Given the description of an element on the screen output the (x, y) to click on. 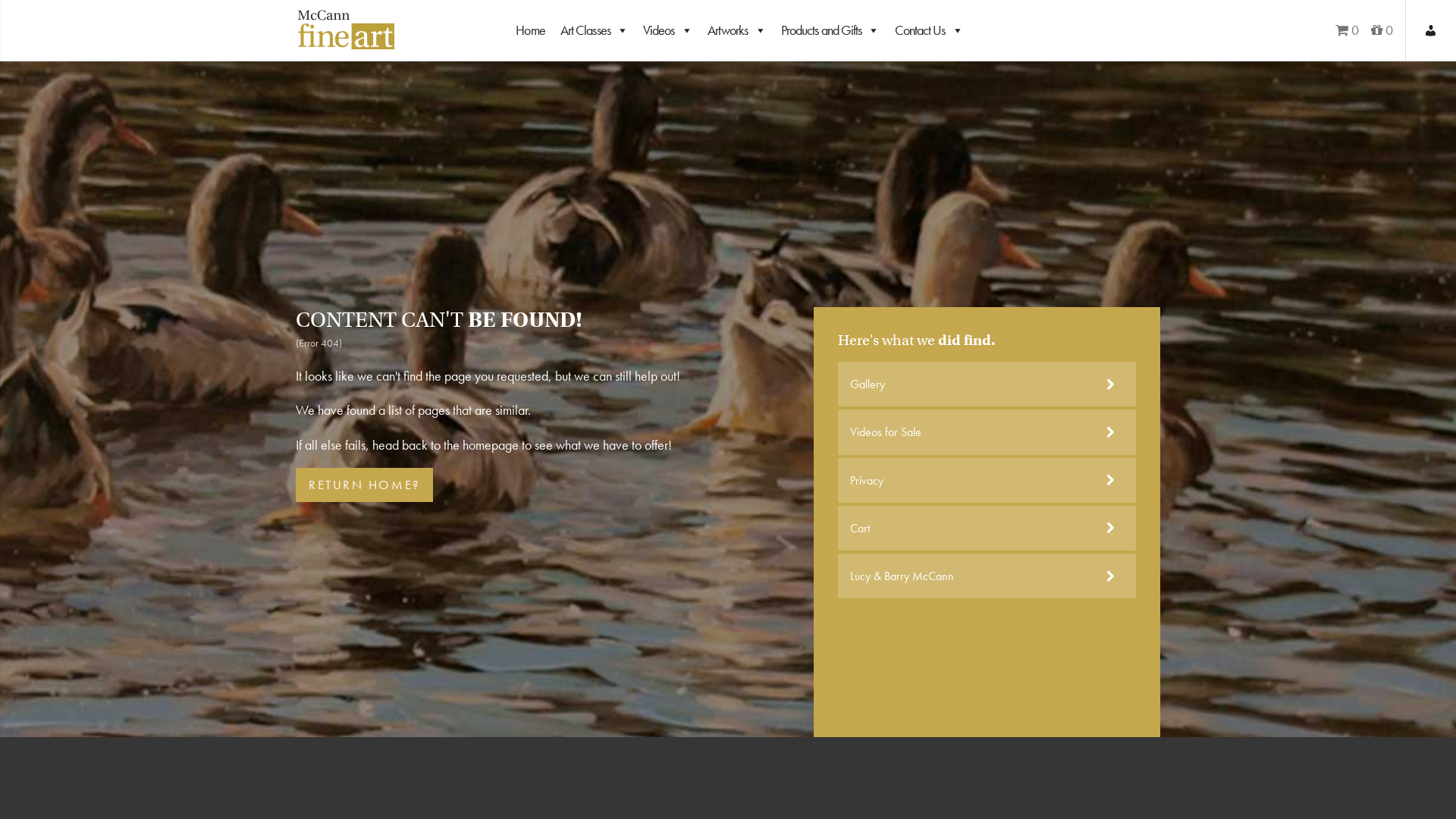
Products and Gifts Element type: text (830, 30)
Privacy Element type: text (986, 480)
0 Element type: text (1346, 30)
Videos Element type: text (667, 30)
Artworks Element type: text (736, 30)
RETURN HOME? Element type: text (364, 484)
Contact Us Element type: text (928, 30)
Videos for Sale Element type: text (986, 431)
Cart Element type: text (986, 527)
Art Classes Element type: text (593, 30)
Lucy & Barry McCann Element type: text (986, 575)
Home Element type: text (530, 30)
0 Element type: text (1382, 30)
Gallery Element type: text (986, 383)
